Given the description of an element on the screen output the (x, y) to click on. 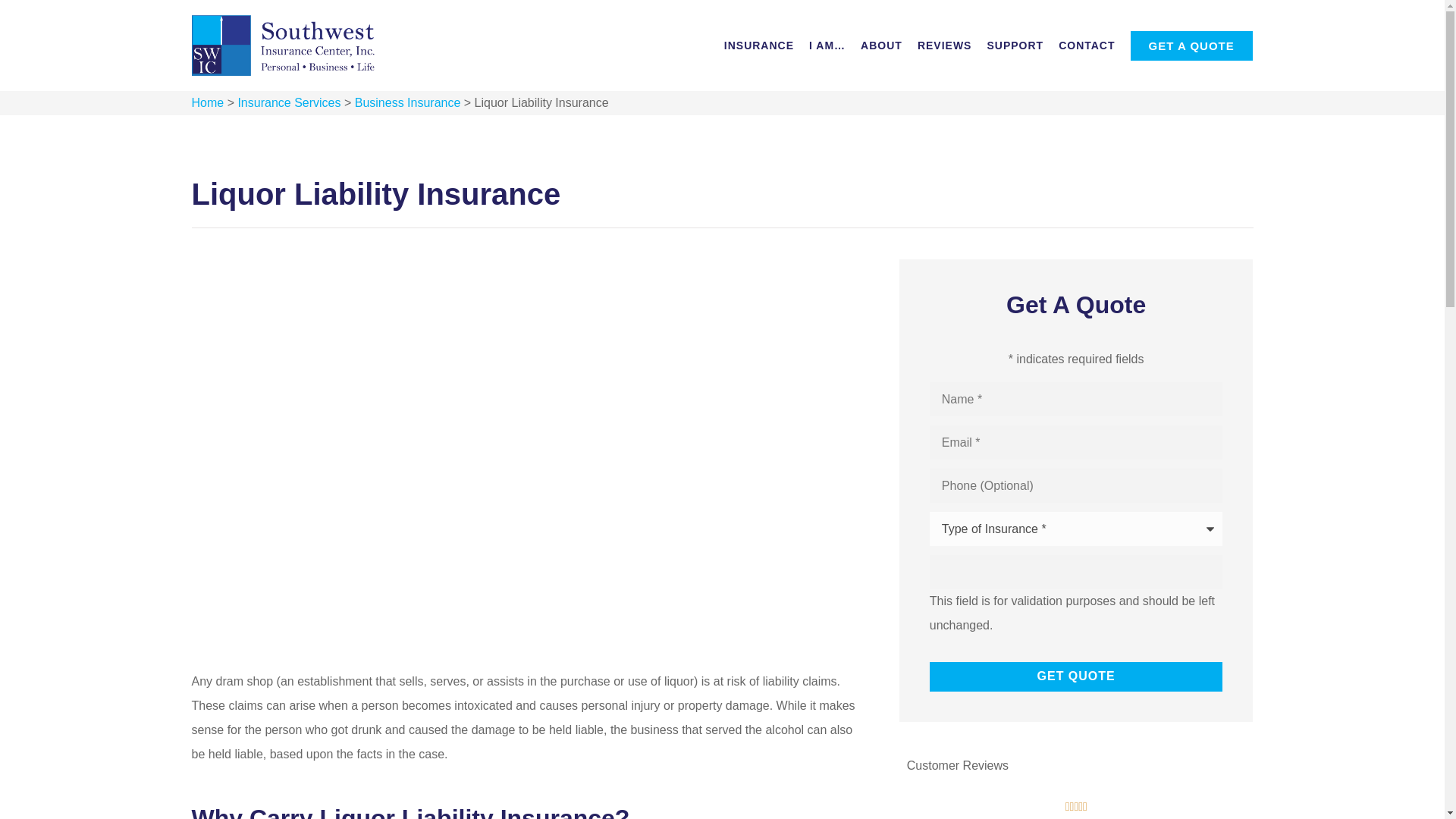
SUPPORT (1014, 45)
INSURANCE (759, 45)
ABOUT (881, 45)
Get Quote (1076, 676)
REVIEWS (944, 45)
